Given the description of an element on the screen output the (x, y) to click on. 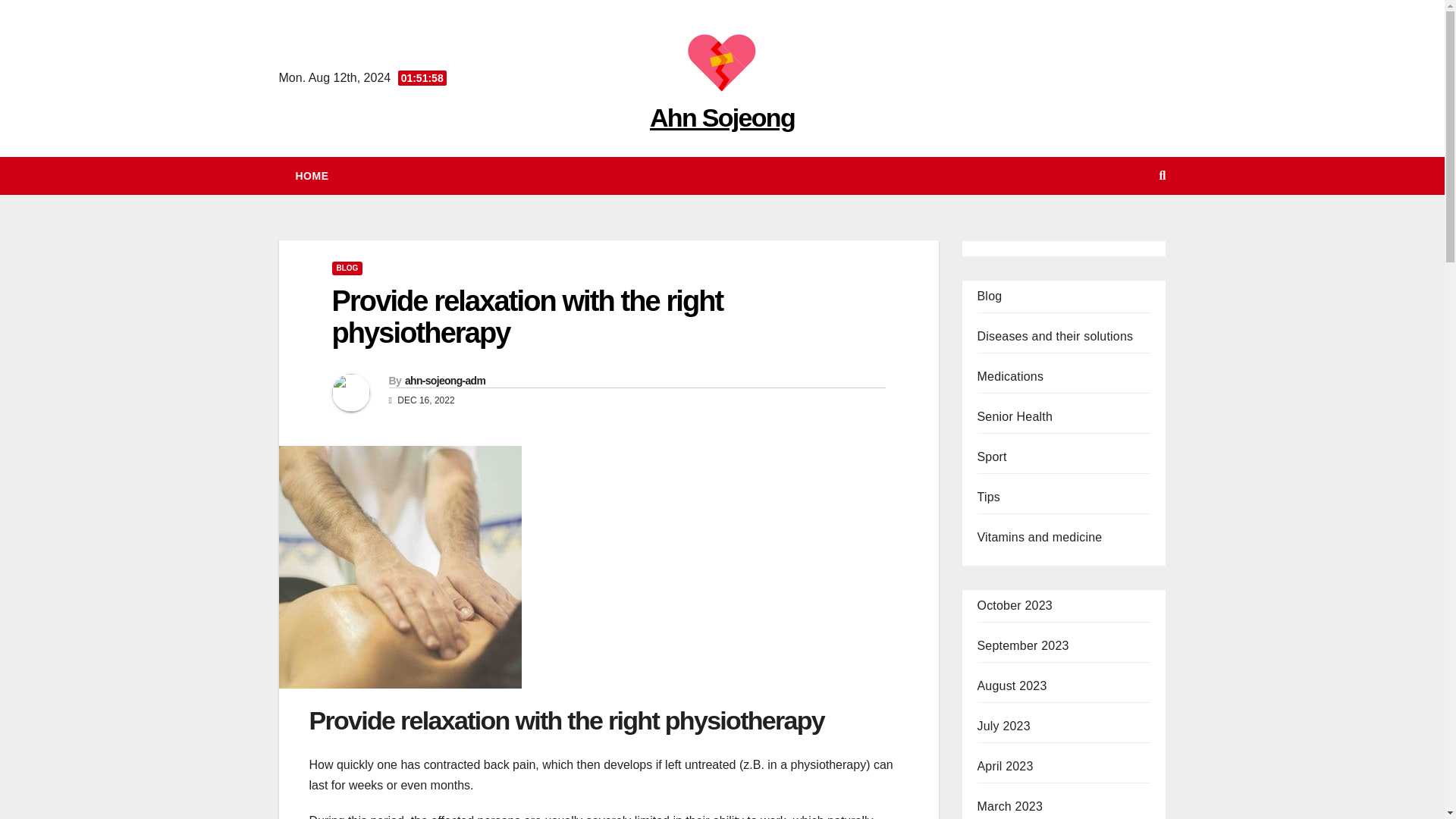
Vitamins and medicine (1039, 536)
Medications (1009, 376)
Sport (991, 456)
HOME (312, 175)
Blog (988, 295)
Senior Health (1014, 416)
Tips (987, 496)
Diseases and their solutions (1054, 336)
Provide relaxation with the right physiotherapy (527, 316)
